Given the description of an element on the screen output the (x, y) to click on. 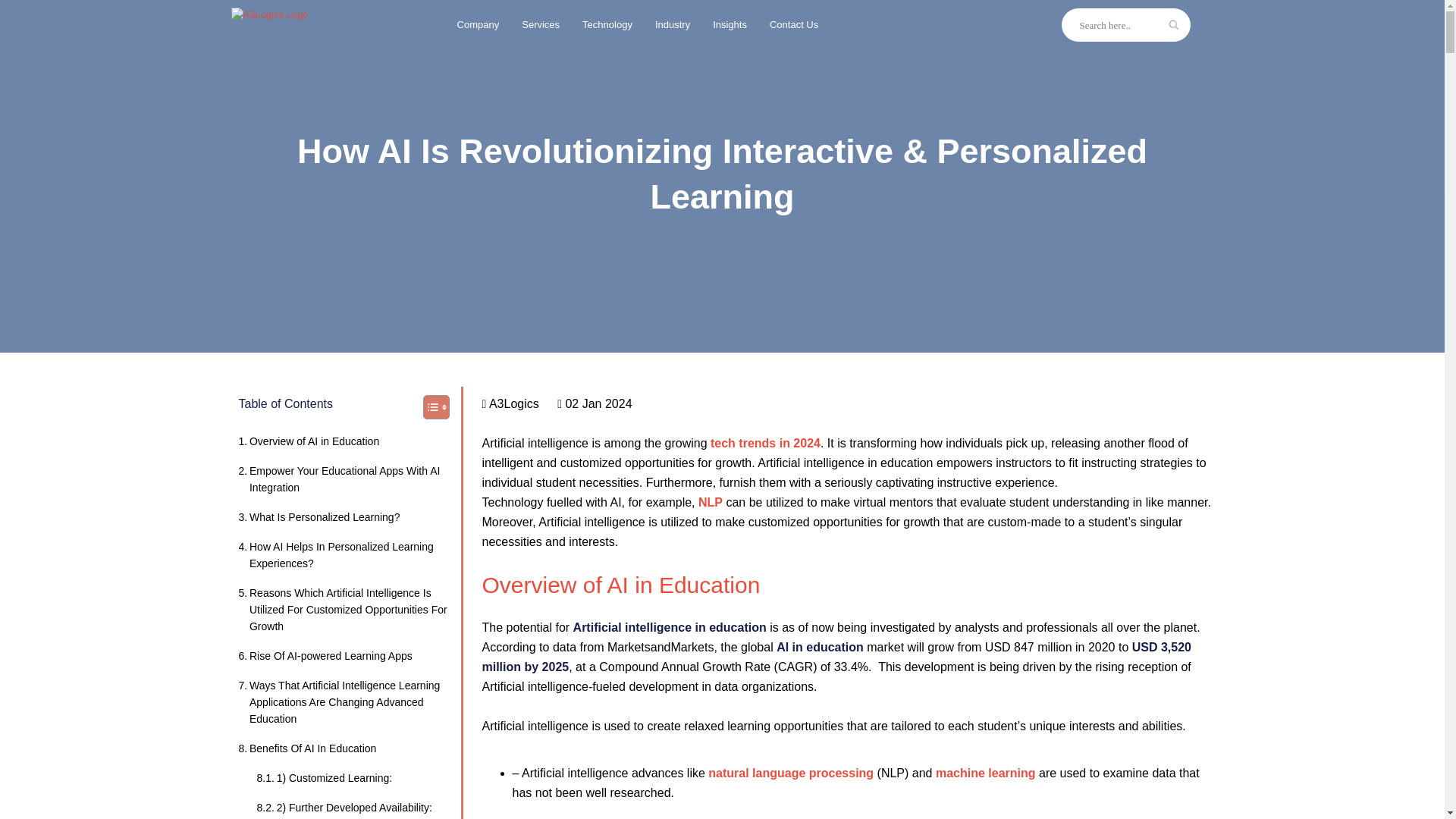
Empower Your Educational Apps With AI Integration (345, 479)
Overview of AI in Education (308, 441)
Benefits Of AI In Education (306, 748)
Rise Of AI-powered Learning Apps (325, 655)
What Is Personalized Learning? (318, 516)
